Given the description of an element on the screen output the (x, y) to click on. 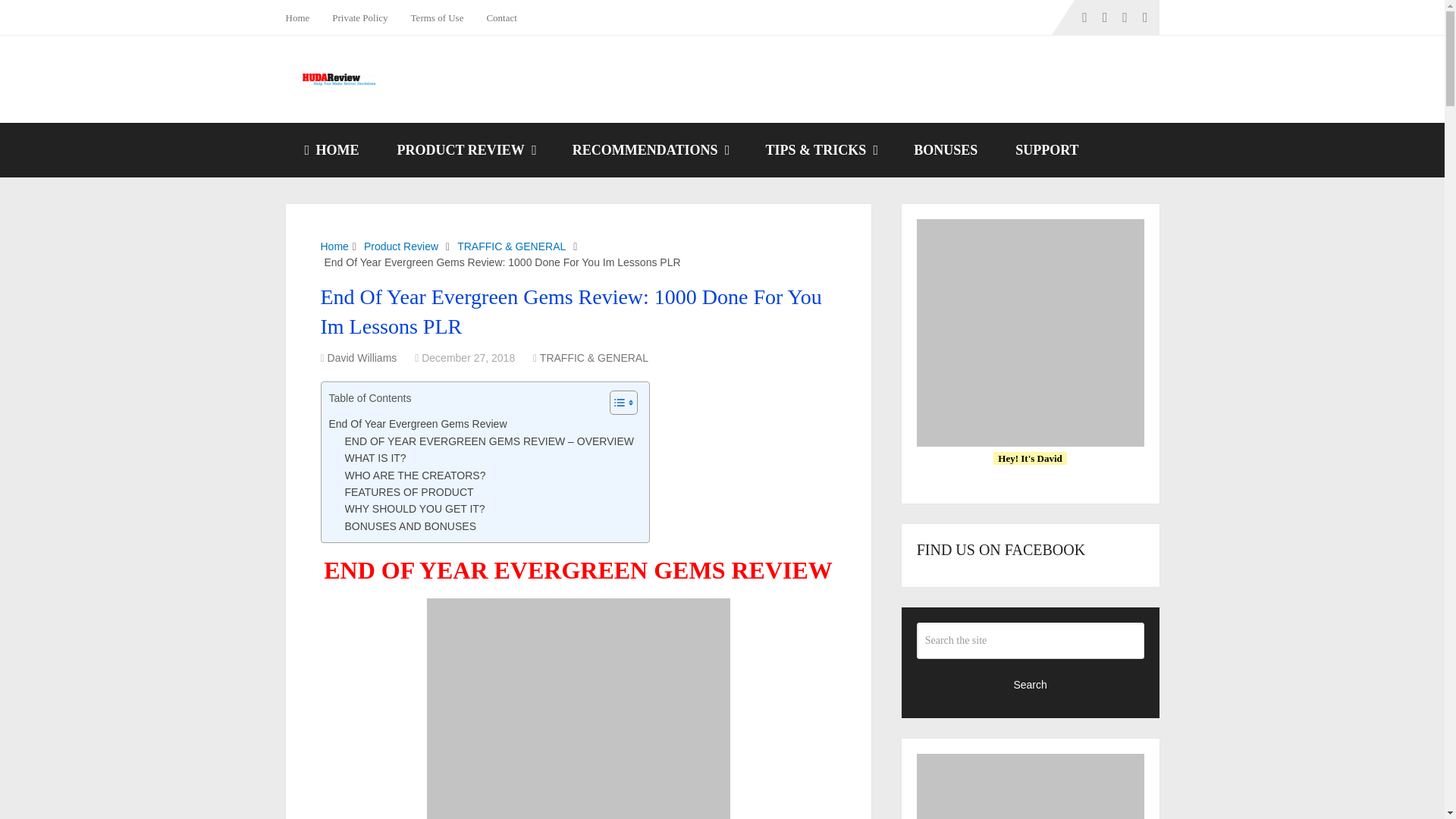
WHY SHOULD YOU GET IT? (413, 508)
Posts by David Williams (362, 357)
Private Policy (359, 17)
End Of Year Evergreen Gems Review (417, 423)
PRODUCT REVIEW (465, 149)
Terms of Use (437, 17)
FEATURES OF PRODUCT (408, 492)
BONUSES (945, 149)
WHO ARE THE CREATORS? (413, 475)
SUPPORT (1046, 149)
WHAT IS IT? (374, 457)
Home (302, 17)
Contact (500, 17)
HOME (331, 149)
BONUSES AND BONUSES (409, 525)
